Given the description of an element on the screen output the (x, y) to click on. 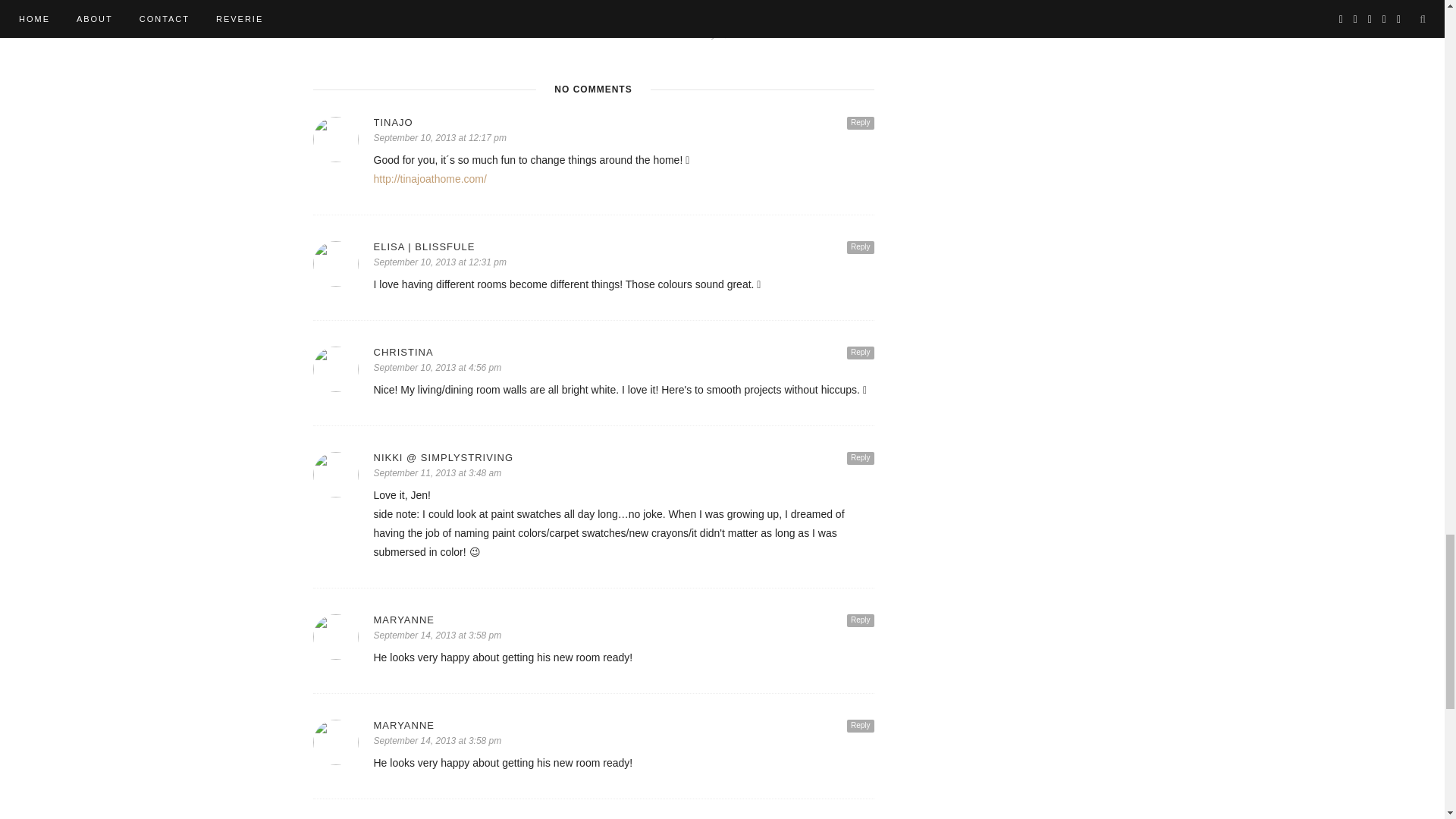
Connecticut House Bedroom Refresh (785, 18)
CHRISTINA (622, 351)
Reply (861, 246)
Reply (861, 352)
TINAJO (622, 122)
Reply (861, 458)
MARYANNE (622, 725)
Reply (861, 725)
MARYANNE (622, 619)
Reply (861, 620)
Reply (861, 123)
